Given the description of an element on the screen output the (x, y) to click on. 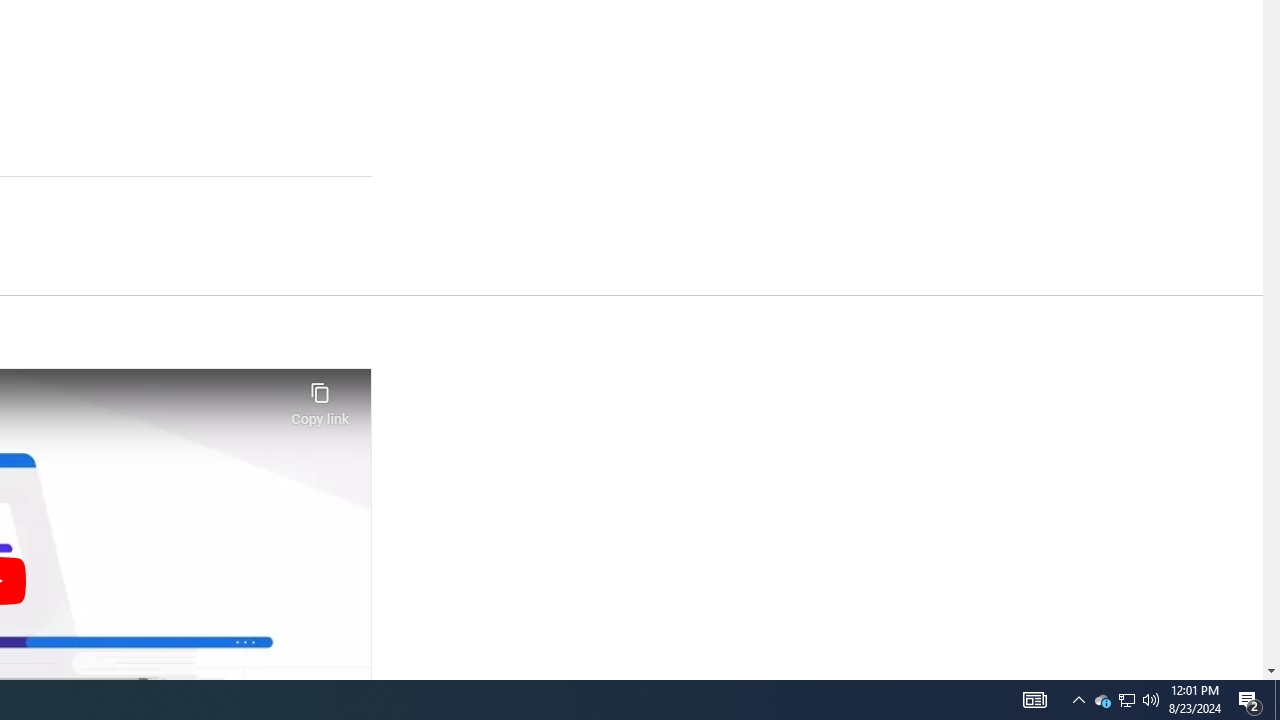
Copy link (319, 398)
